Given the description of an element on the screen output the (x, y) to click on. 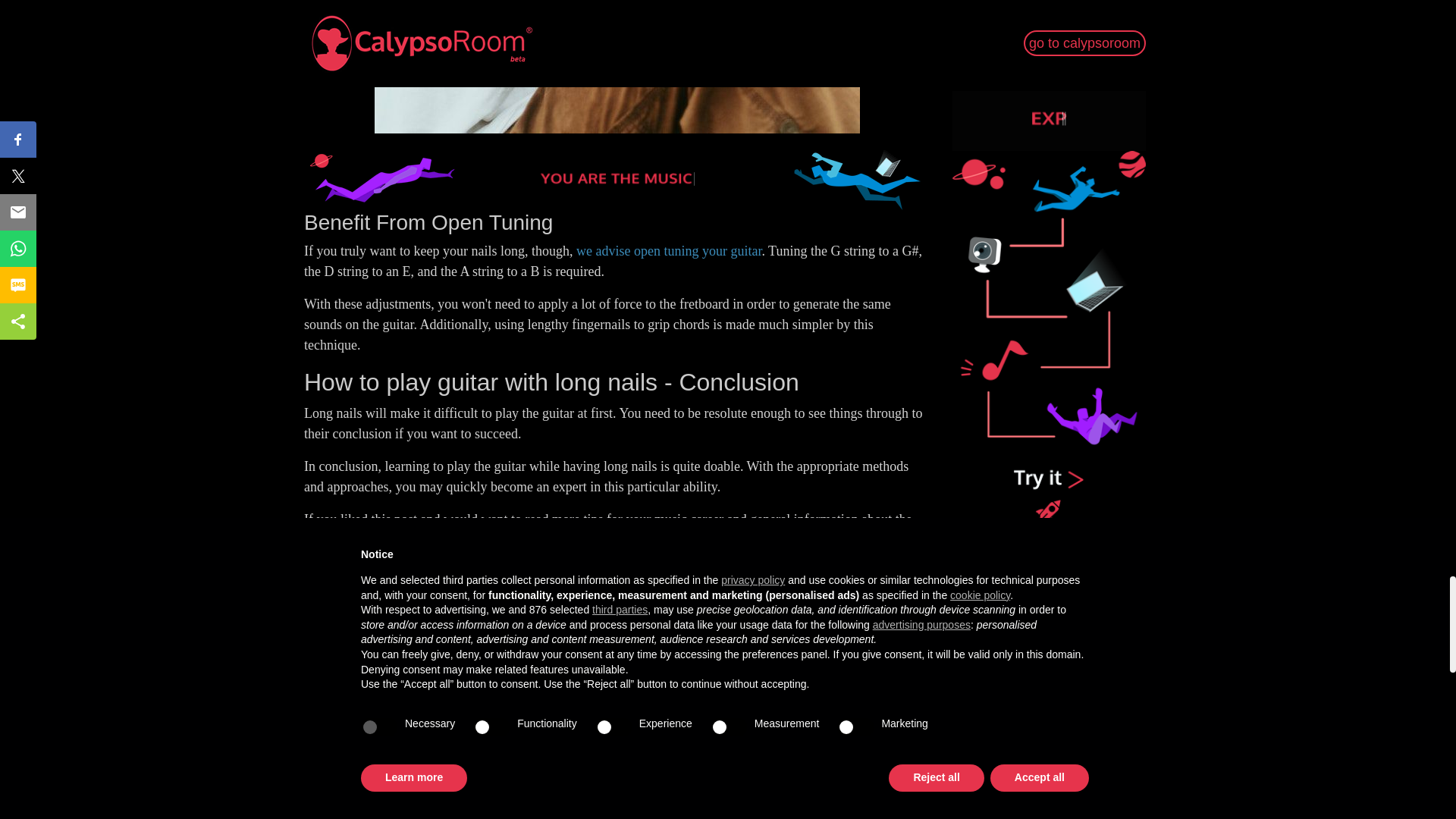
please visit our blog section (466, 539)
Check it out (883, 739)
we advise open tuning your guitar (668, 250)
connected by webcam in CalypsoRoom (442, 592)
post it on CalypsoRoom (734, 718)
